Given the description of an element on the screen output the (x, y) to click on. 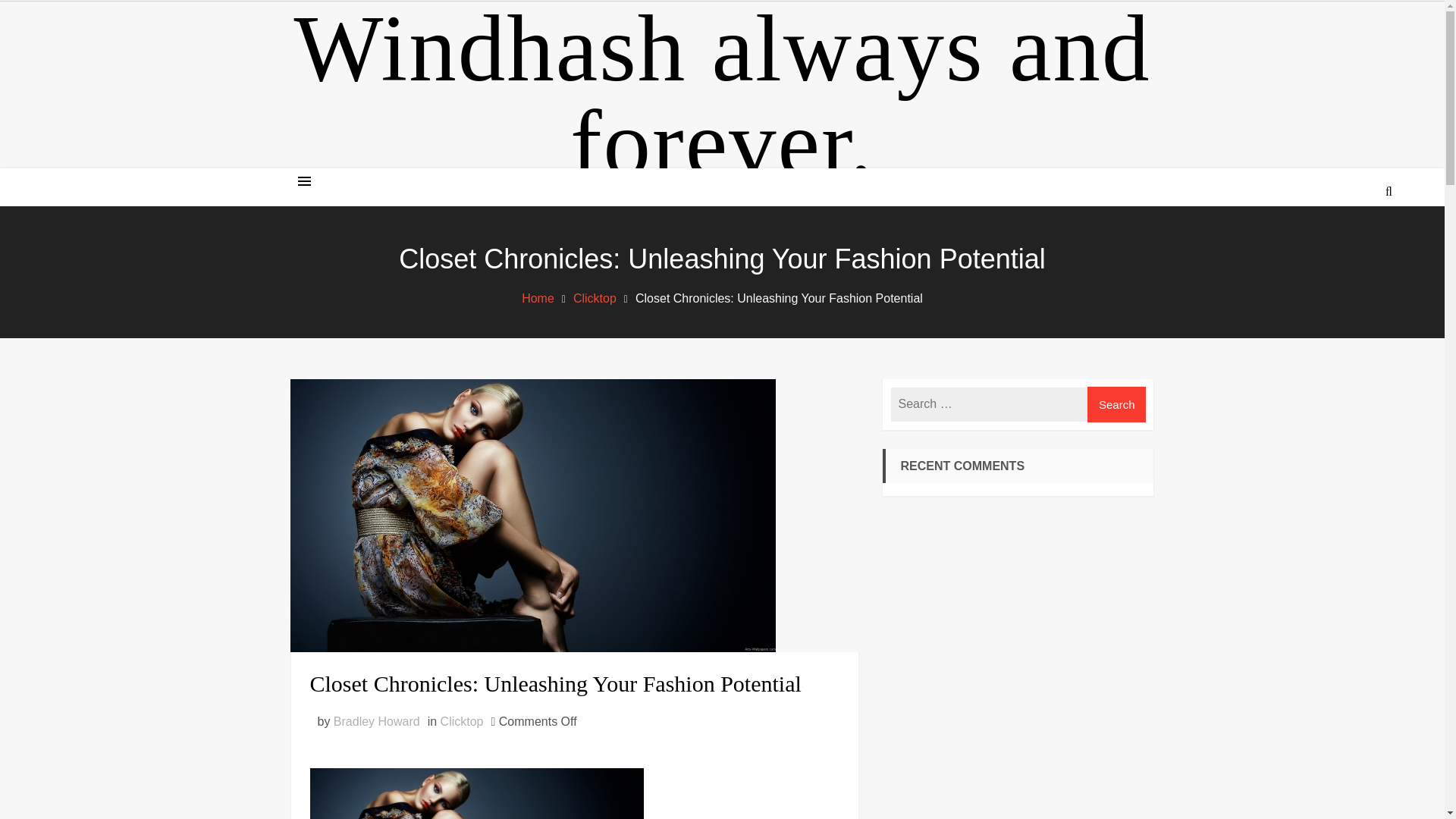
Clicktop (462, 721)
Search (1117, 404)
Home (537, 297)
Bradley Howard (376, 721)
Search (1117, 404)
Search (1346, 248)
Clicktop (594, 297)
Closet Chronicles: Unleashing Your Fashion Potential (573, 683)
Search (1117, 404)
